Given the description of an element on the screen output the (x, y) to click on. 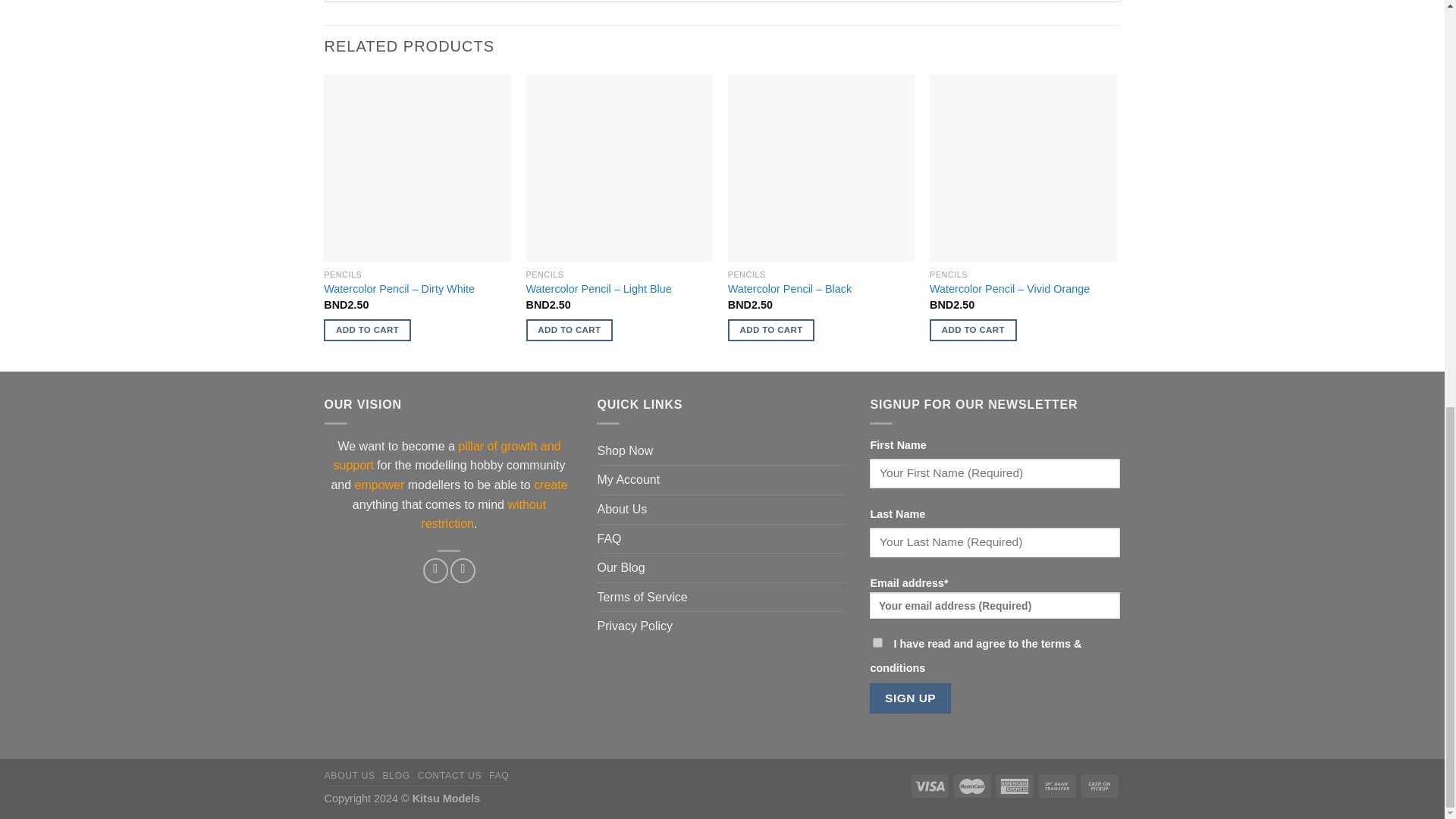
Sign up (909, 697)
1 (877, 642)
